Given the description of an element on the screen output the (x, y) to click on. 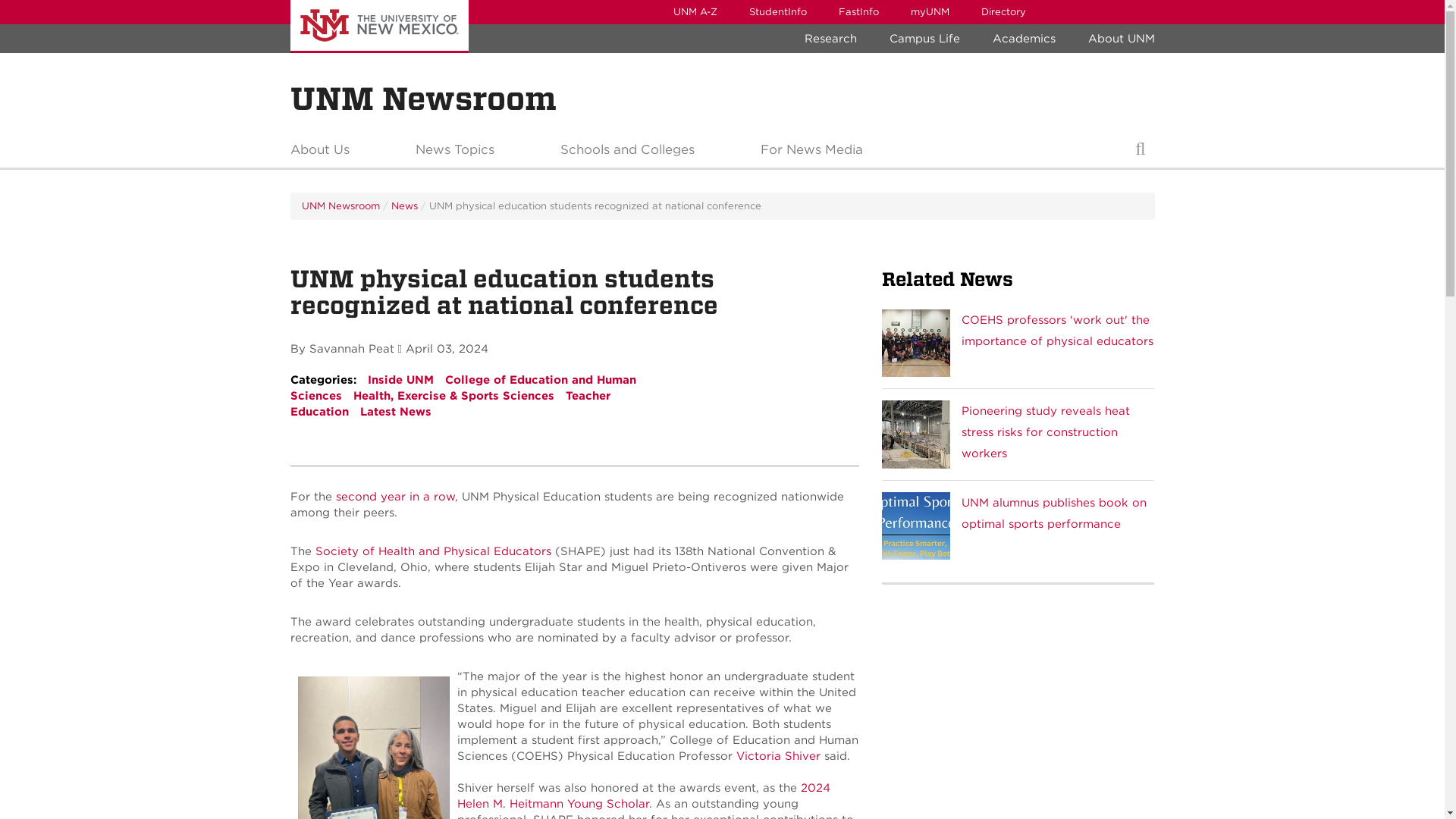
Research (830, 38)
Academics (1024, 38)
UNM Newsroom (422, 98)
Miguel Prieto-Ontiveros with his award (372, 747)
UNM A-Z (694, 12)
FastInfo (858, 12)
Campus Life (924, 38)
Directory (1002, 12)
Toggle search (1139, 153)
About UNM (1121, 38)
